Given the description of an element on the screen output the (x, y) to click on. 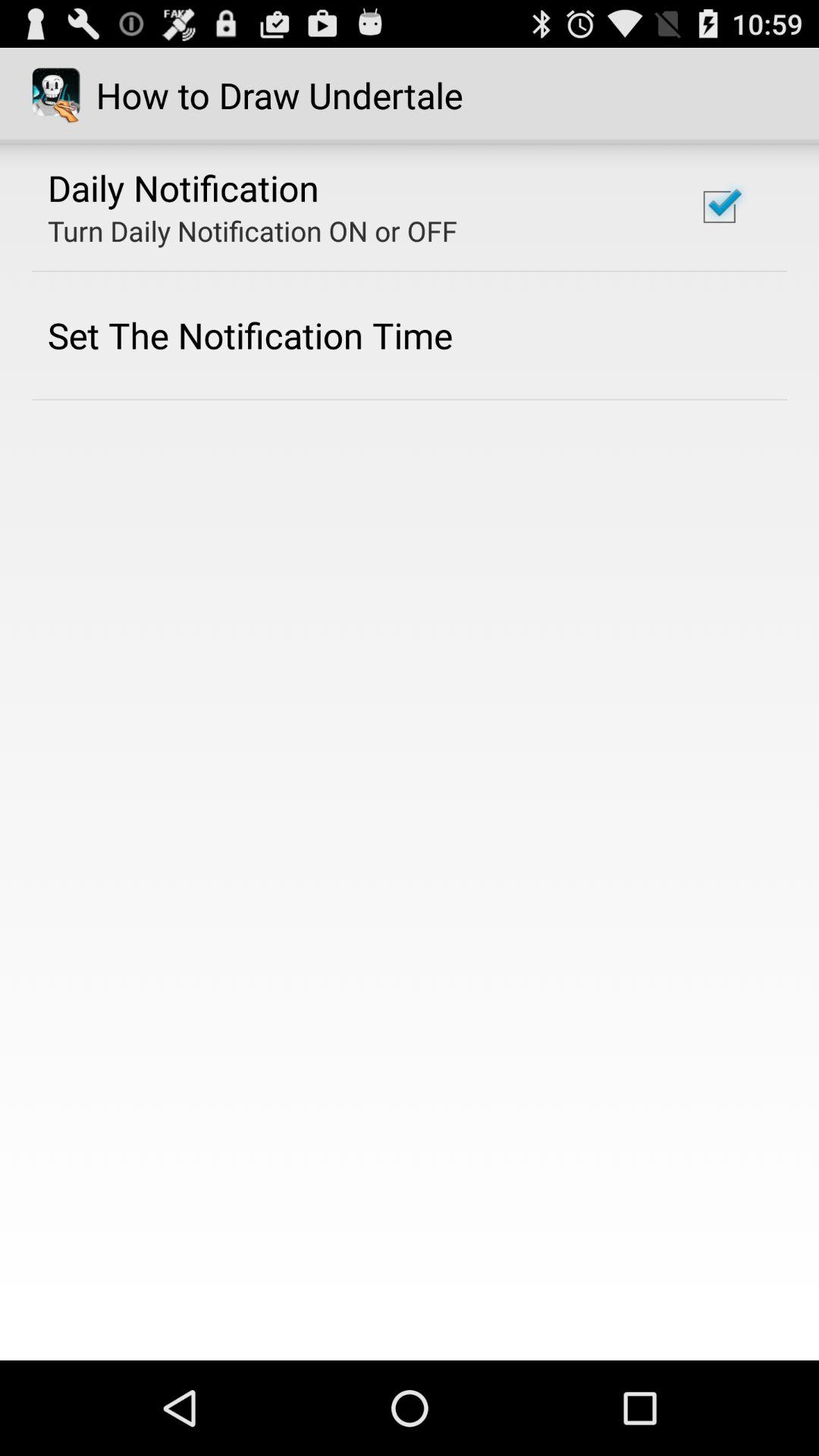
press the item to the right of turn daily notification app (719, 206)
